Given the description of an element on the screen output the (x, y) to click on. 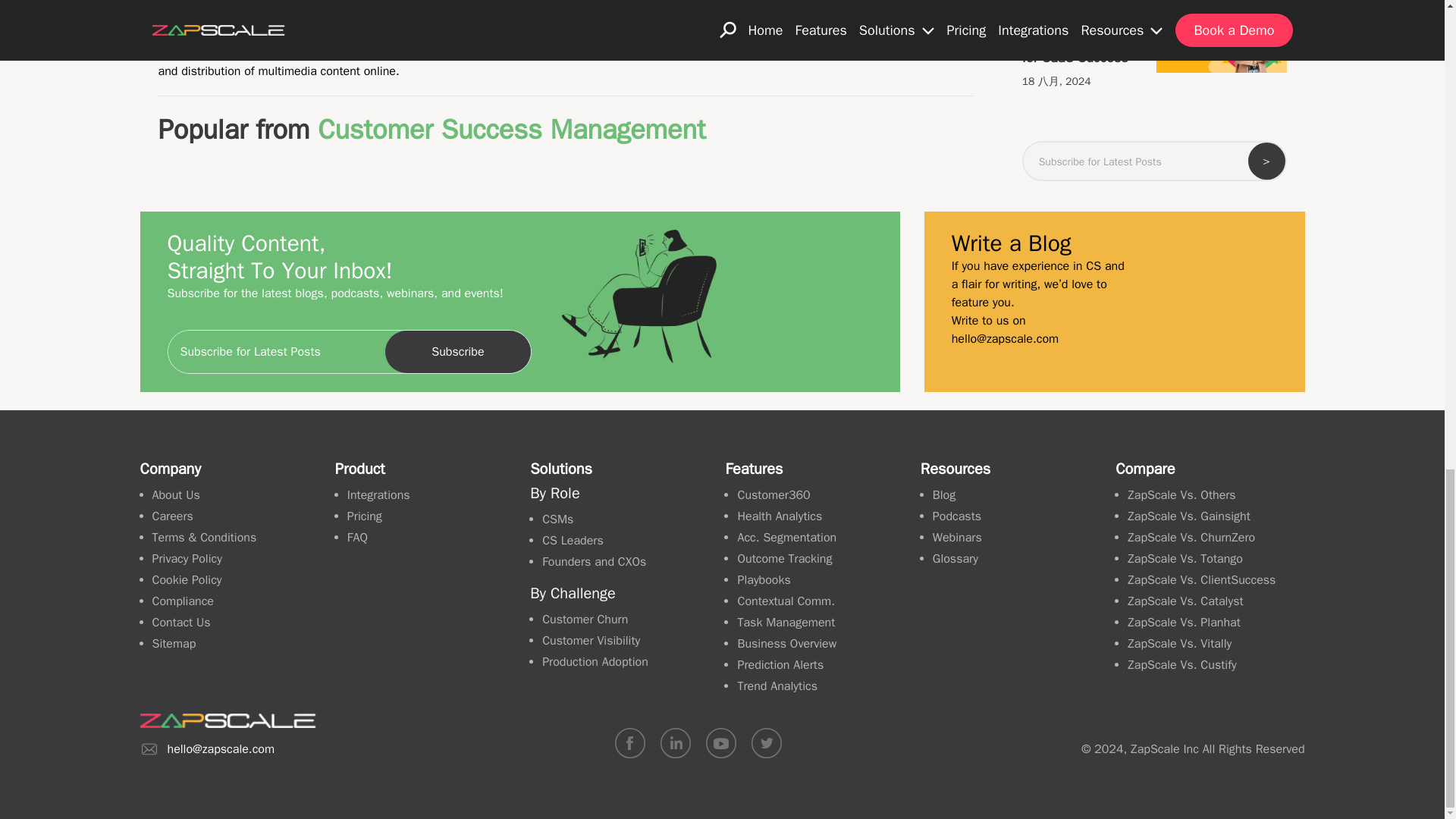
Pricing (364, 516)
Cookie Policy (186, 580)
Privacy Policy (186, 558)
Sitemap (173, 643)
CS Leaders (572, 540)
Careers (171, 516)
Contact Us (180, 622)
Subscribe (457, 351)
CSMs (557, 519)
Integrations (378, 494)
